Given the description of an element on the screen output the (x, y) to click on. 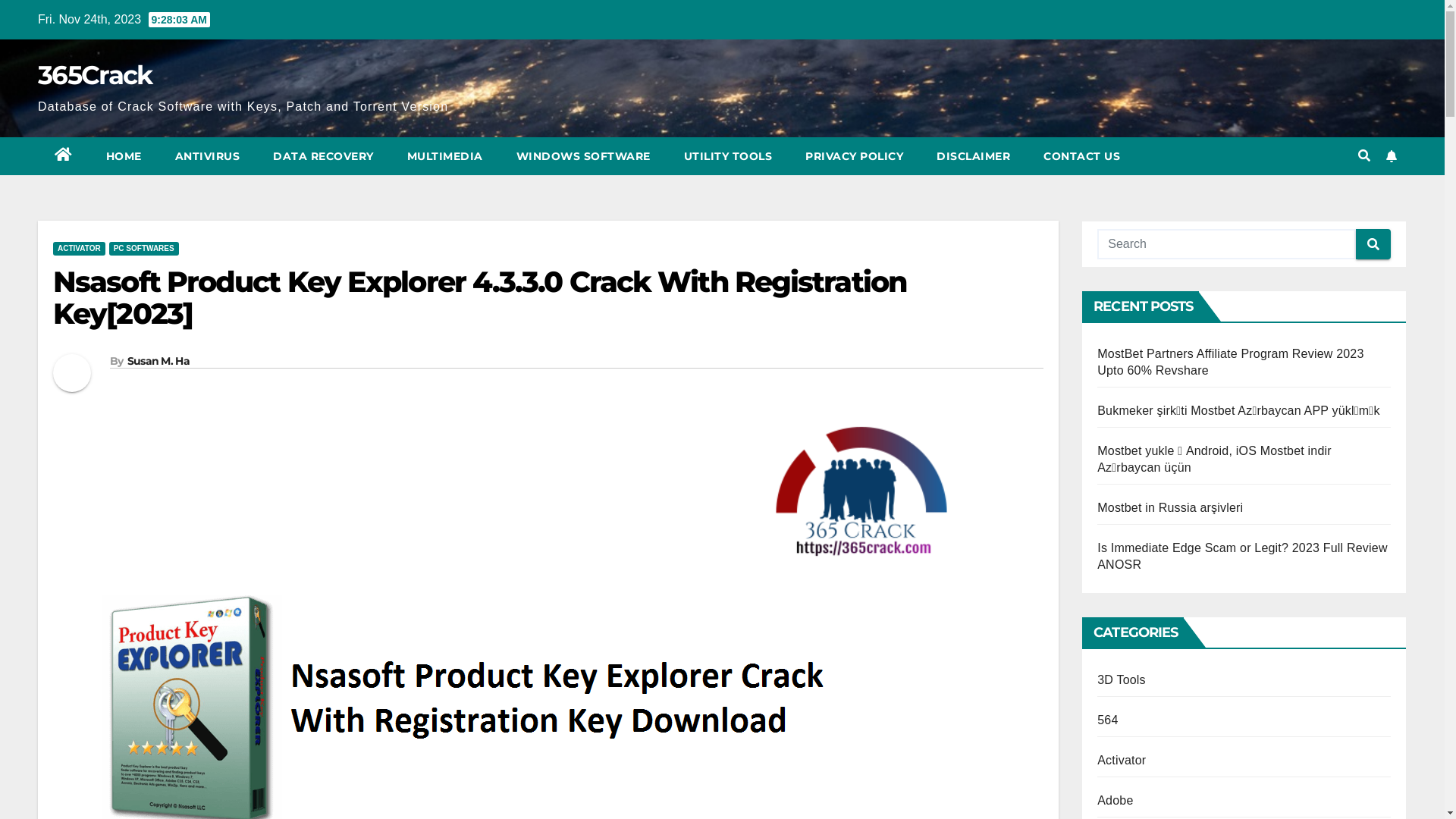
DATA RECOVERY Element type: text (323, 156)
Susan M. Ha Element type: text (158, 360)
3D Tools Element type: text (1121, 679)
Is Immediate Edge Scam or Legit? 2023 Full Review ANOSR Element type: text (1241, 556)
365Crack Element type: text (94, 75)
HOME Element type: text (123, 156)
Activator Element type: text (1121, 759)
ACTIVATOR Element type: text (79, 248)
564 Element type: text (1107, 719)
Adobe Element type: text (1114, 799)
WINDOWS SOFTWARE Element type: text (582, 156)
ANTIVIRUS Element type: text (206, 156)
PC SOFTWARES Element type: text (143, 248)
UTILITY TOOLS Element type: text (728, 156)
PRIVACY POLICY Element type: text (853, 156)
DISCLAIMER Element type: text (972, 156)
CONTACT US Element type: text (1081, 156)
MULTIMEDIA Element type: text (443, 156)
